Given the description of an element on the screen output the (x, y) to click on. 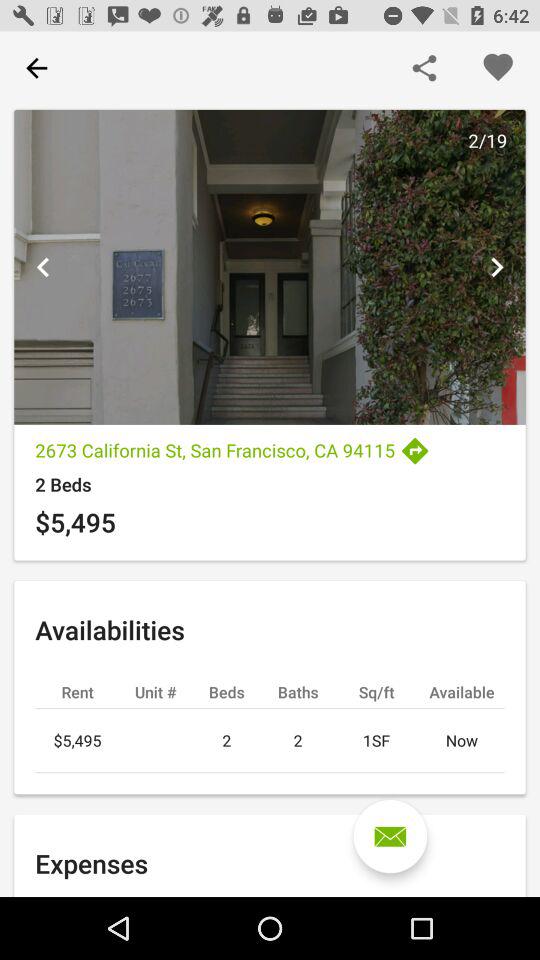
like property (497, 68)
